Given the description of an element on the screen output the (x, y) to click on. 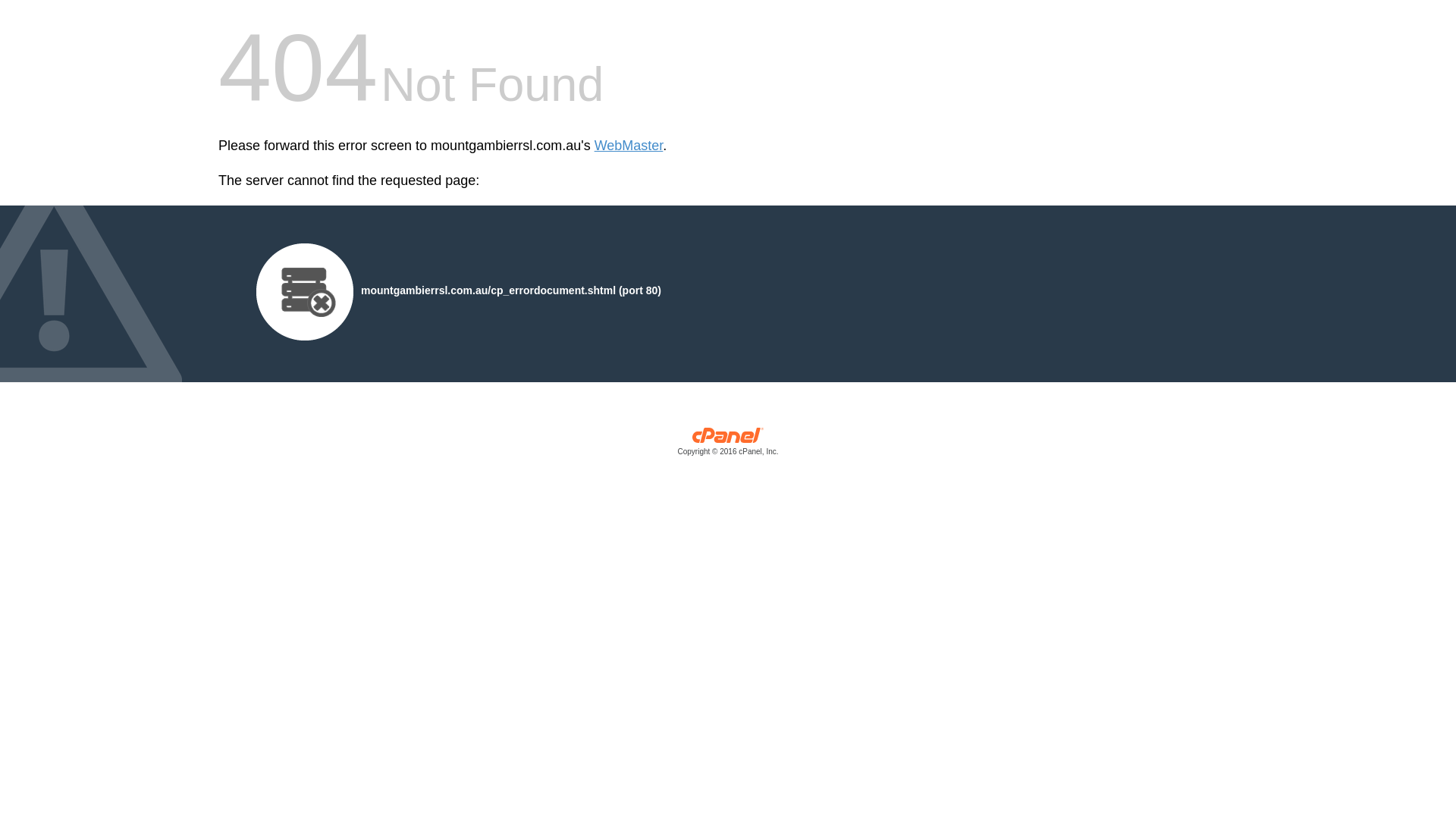
WebMaster Element type: text (628, 145)
